Given the description of an element on the screen output the (x, y) to click on. 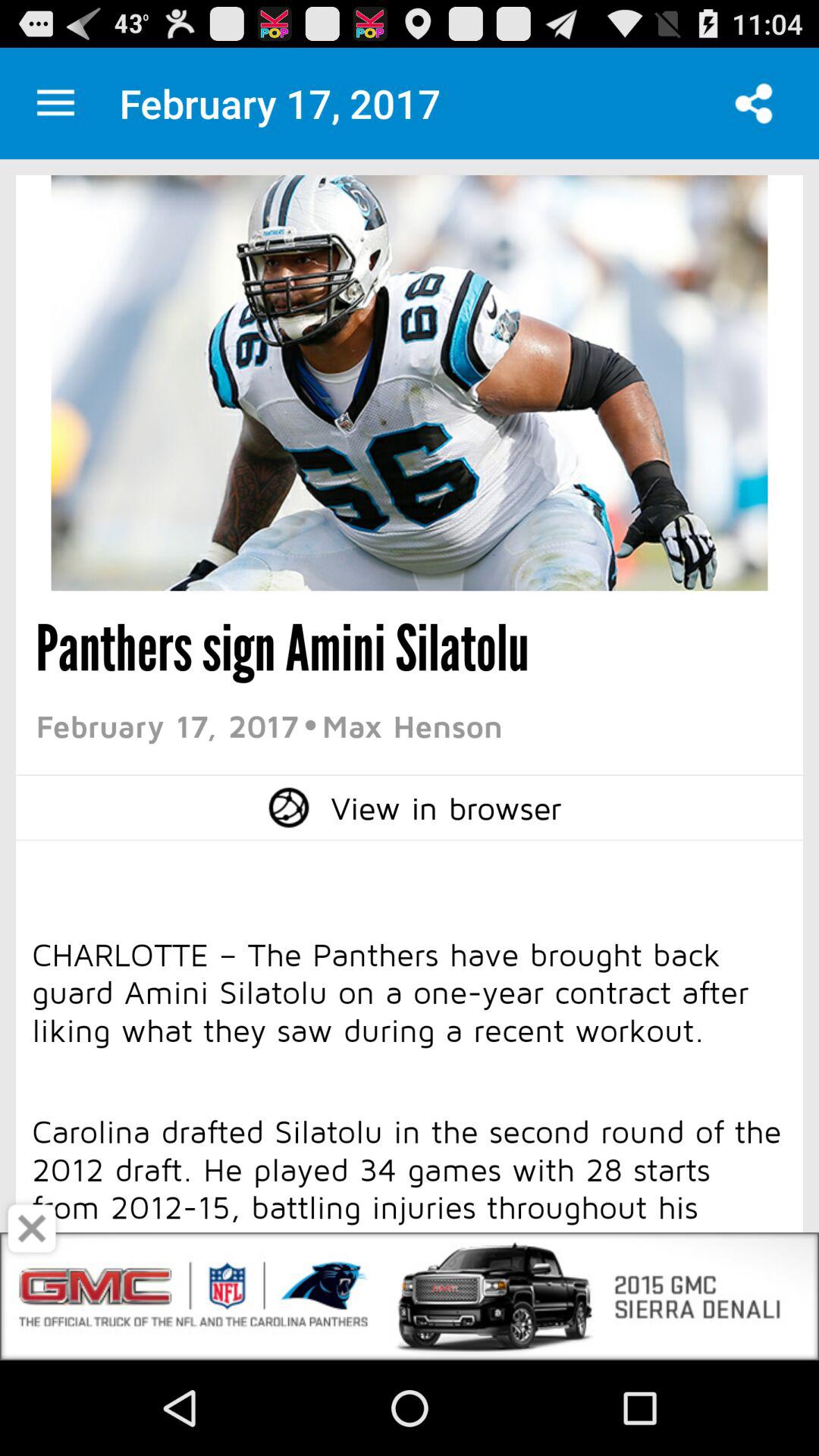
close adversing (31, 1228)
